Given the description of an element on the screen output the (x, y) to click on. 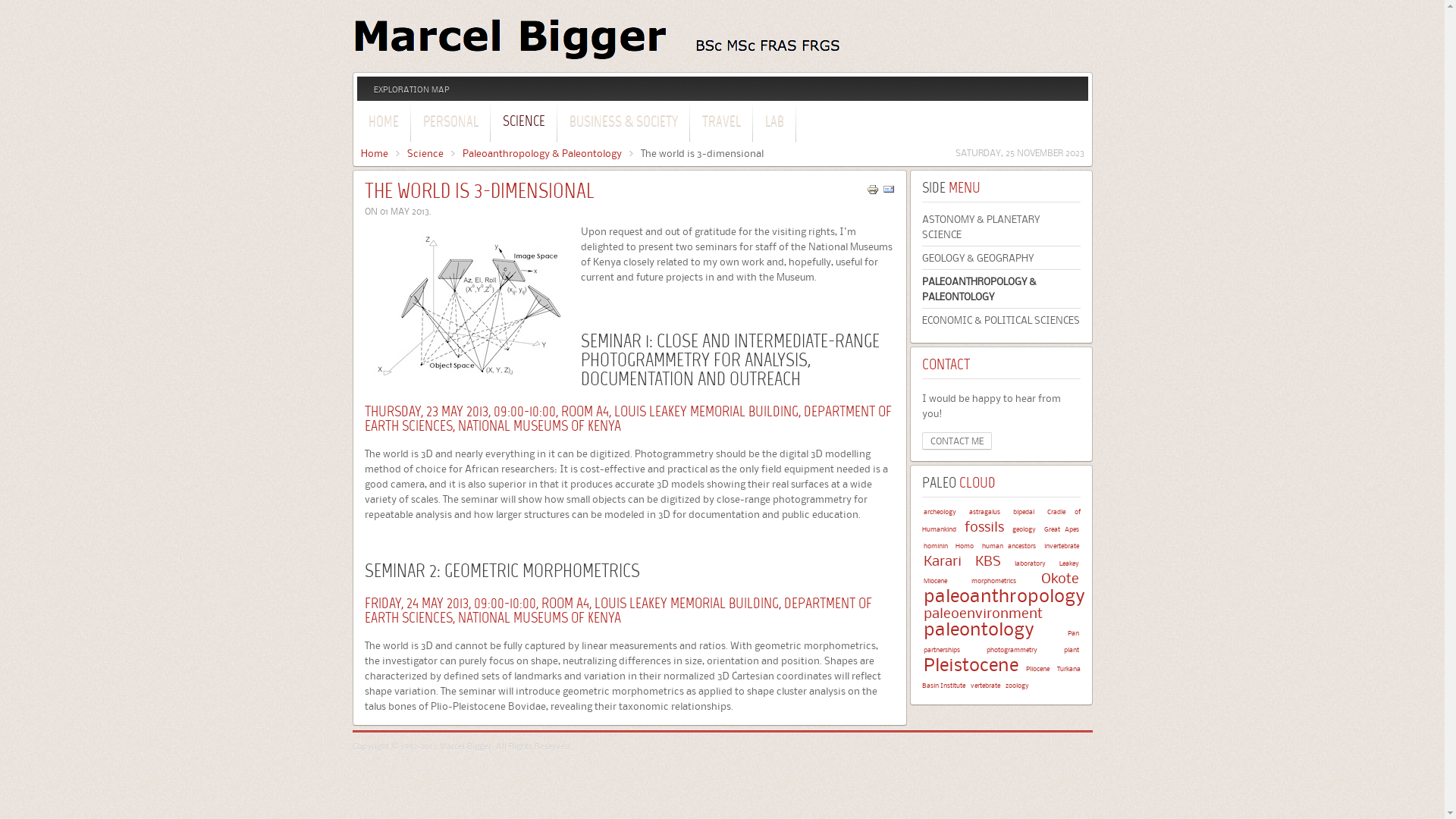
Pleistocene Element type: text (970, 664)
Miocene Element type: text (935, 580)
Turkana Basin Institute Element type: text (1001, 676)
Leakey Element type: text (1068, 562)
bipedal Element type: text (1023, 511)
Print Element type: hover (872, 191)
morphometrics Element type: text (993, 580)
TRAVEL Element type: text (720, 119)
fossils Element type: text (984, 526)
GEOLOGY & GEOGRAPHY Element type: text (1001, 257)
SCIENCE Element type: text (523, 119)
PALEOANTHROPOLOGY & PALEONTOLOGY Element type: text (1001, 288)
paleoanthropology Element type: text (1004, 595)
BUSINESS & SOCIETY Element type: text (623, 119)
photogrammetry Element type: text (1010, 649)
Pliocene Element type: text (1036, 668)
paleontology Element type: text (978, 628)
CONTACT ME Element type: text (956, 440)
geology Element type: text (1023, 528)
Science Element type: text (430, 152)
LAB Element type: text (774, 119)
invertebrate Element type: text (1060, 545)
Great Apes Element type: text (1060, 528)
Okote Element type: text (1059, 577)
archeology Element type: text (939, 511)
HOME Element type: text (382, 119)
plant Element type: text (1070, 649)
Email Element type: hover (888, 191)
laboratory Element type: text (1029, 562)
ECONOMIC & POLITICAL SCIENCES Element type: text (1001, 319)
human ancestors Element type: text (1008, 545)
vertebrate Element type: text (985, 685)
KBS Element type: text (988, 560)
ASTONOMY & PLANETARY SCIENCE Element type: text (1001, 226)
zoology Element type: text (1017, 685)
Homo Element type: text (964, 545)
hominin Element type: text (935, 545)
Karari Element type: text (942, 560)
Home Element type: text (379, 152)
PERSONAL Element type: text (450, 119)
Paleoanthropology & Paleontology Element type: text (547, 152)
Cradle of Humankind Element type: text (1001, 519)
paleoenvironment Element type: text (982, 612)
EXPLORATION MAP Element type: text (410, 89)
Pan Element type: text (1073, 632)
partnerships Element type: text (941, 649)
astragalus Element type: text (984, 511)
